Given the description of an element on the screen output the (x, y) to click on. 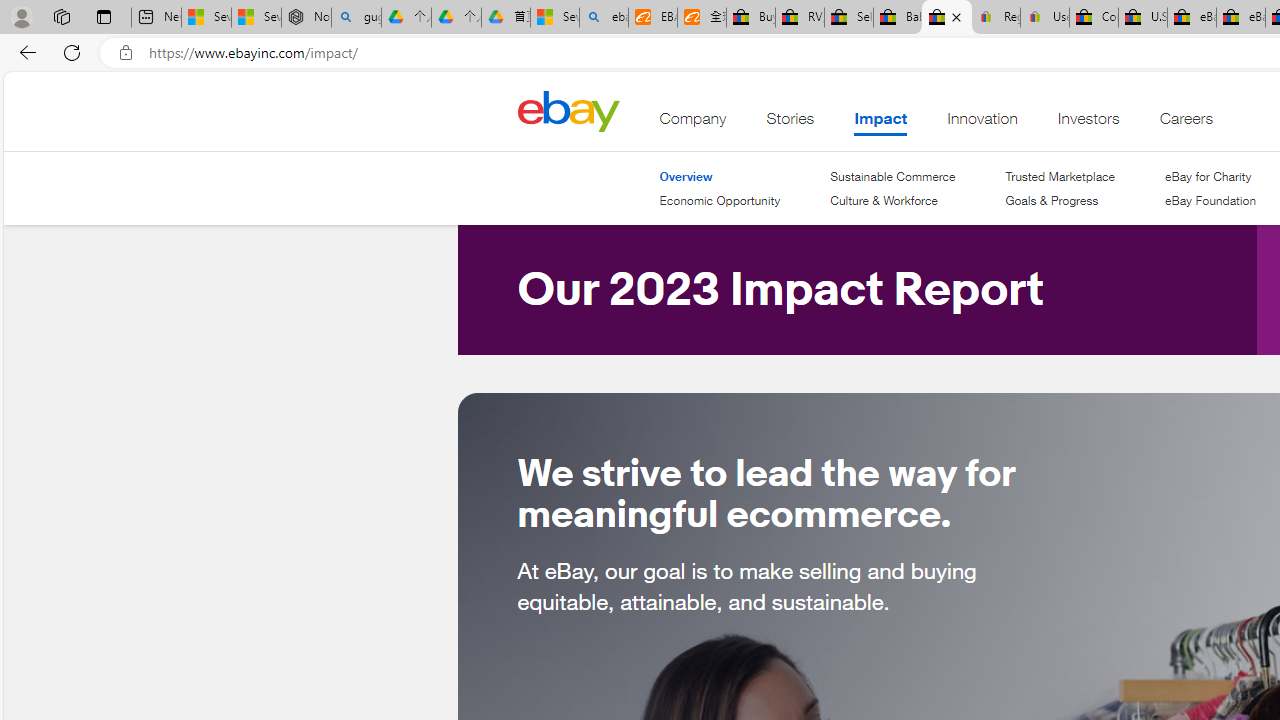
Sell worldwide with eBay (848, 17)
Consumer Health Data Privacy Policy - eBay Inc. (1093, 17)
Overview (685, 176)
eBay for Charity (1207, 176)
Careers (1185, 123)
guge yunpan - Search (356, 17)
Culture & Workforce (892, 201)
Stories (790, 123)
Class: desktop (568, 110)
Company (693, 123)
Baby Keepsakes & Announcements for sale | eBay (897, 17)
RV, Trailer & Camper Steps & Ladders for sale | eBay (799, 17)
